Given the description of an element on the screen output the (x, y) to click on. 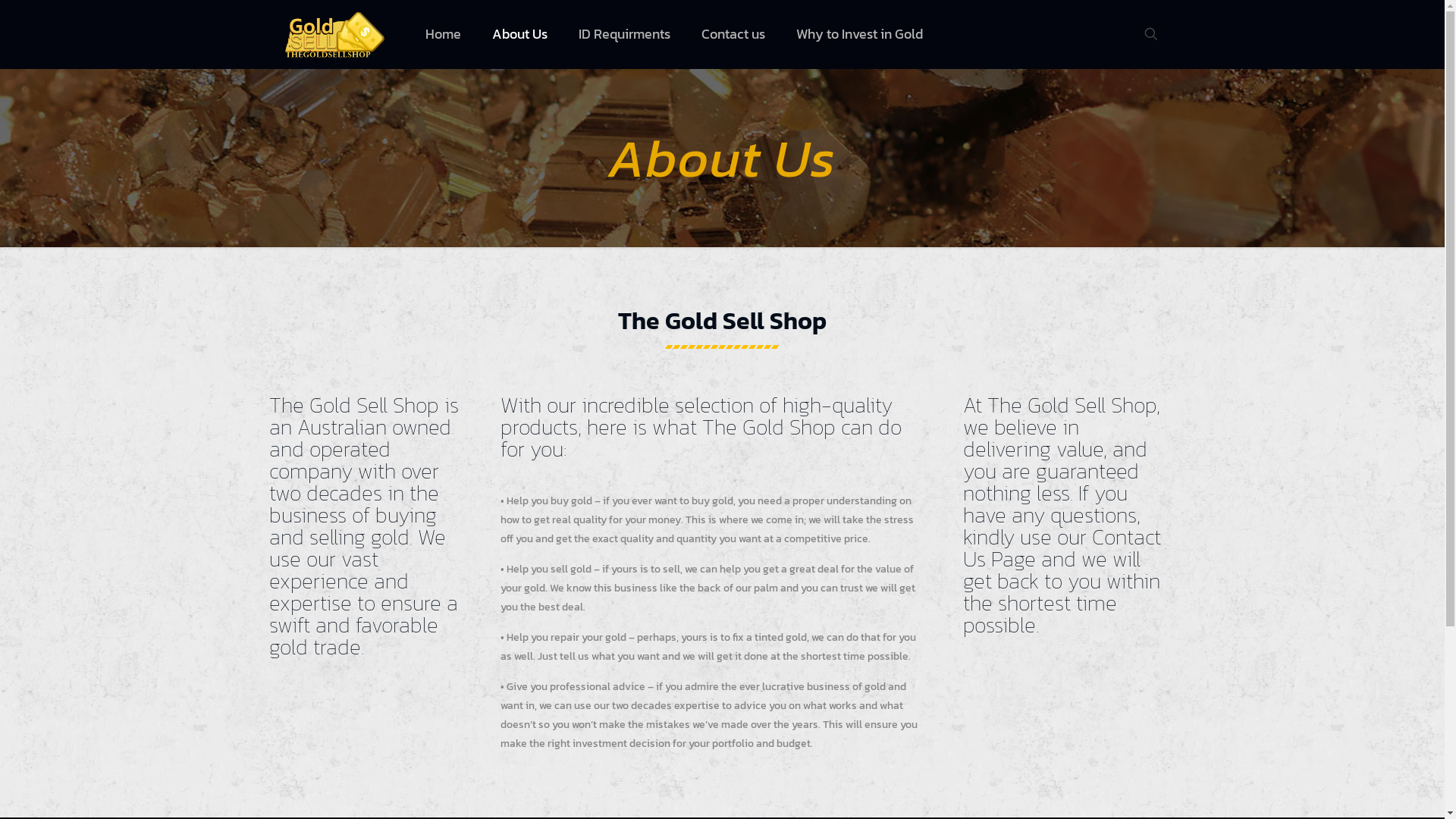
About Us Element type: text (519, 33)
Gold Sell Shop Element type: hover (334, 34)
Why to Invest in Gold Element type: text (859, 33)
ID Requirments Element type: text (624, 33)
Contact us Element type: text (733, 33)
Home Element type: text (443, 33)
